Given the description of an element on the screen output the (x, y) to click on. 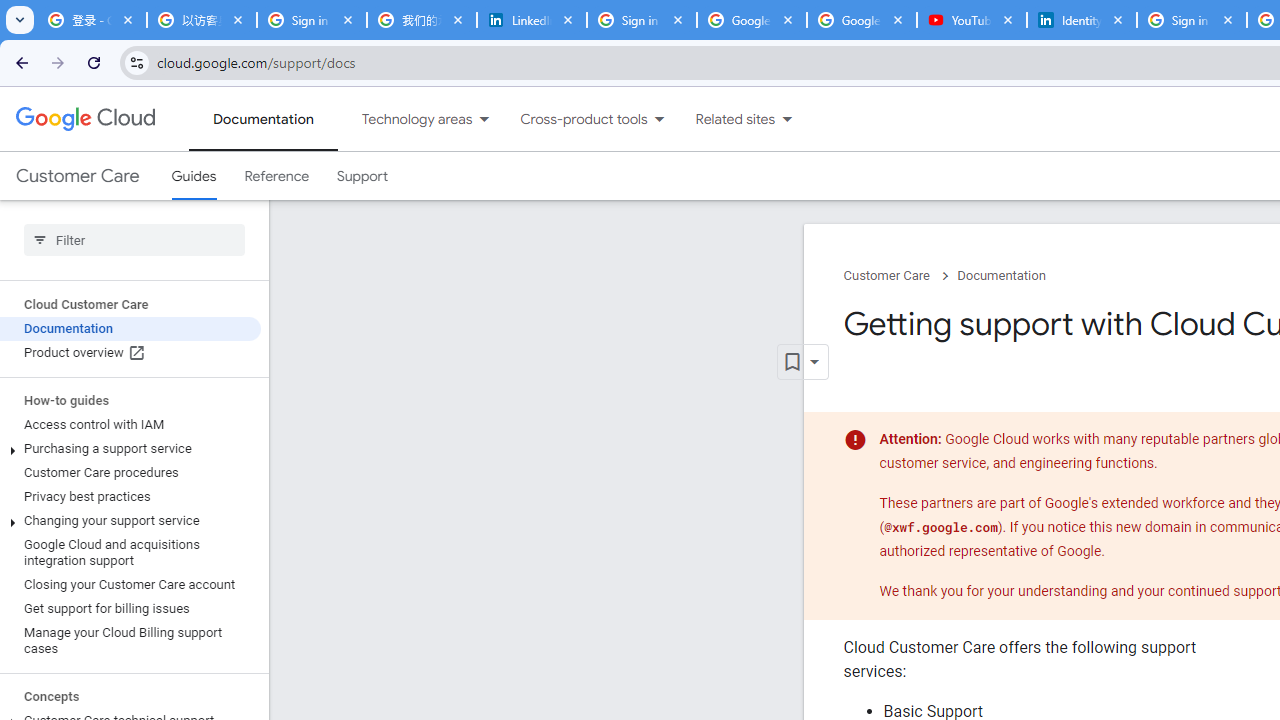
Sign in - Google Accounts (642, 20)
Privacy best practices (130, 497)
Dropdown menu for Cross-product tools (659, 119)
Dropdown menu for Technology areas (484, 119)
Dropdown menu for Related sites (787, 119)
Closing your Customer Care account (130, 584)
LinkedIn Privacy Policy (532, 20)
Documentation, selected (263, 119)
Documentation (1001, 276)
Google Cloud and acquisitions integration support (130, 552)
Reference (276, 175)
Purchasing a support service (130, 448)
